Given the description of an element on the screen output the (x, y) to click on. 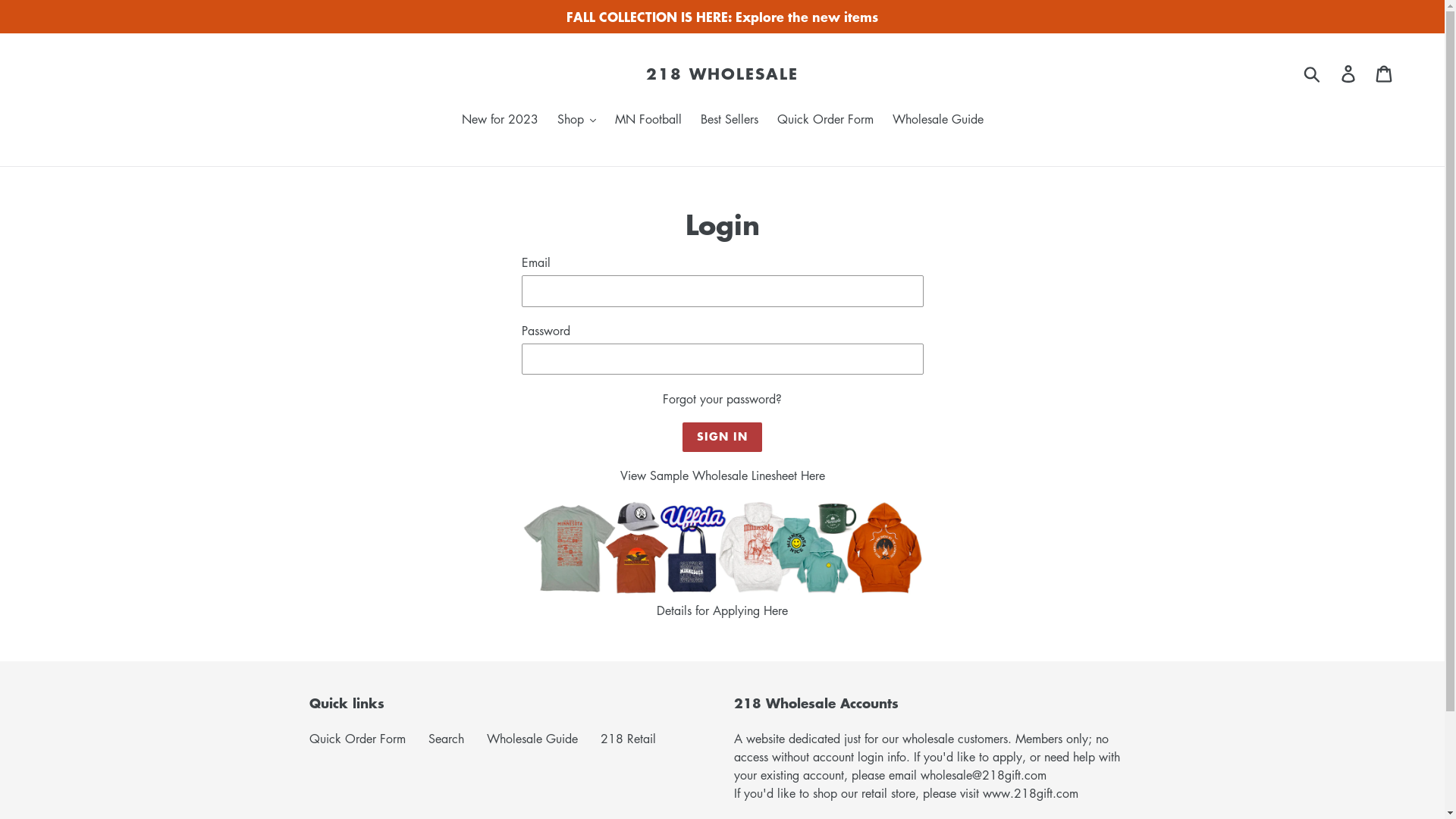
Details for Applying Here Element type: text (721, 610)
New for 2023 Element type: text (499, 119)
Quick Order Form Element type: text (824, 119)
Search Element type: text (445, 738)
Sample Wholesale Linesheet Here Element type: text (736, 475)
218 WHOLESALE Element type: text (722, 73)
Log in Element type: text (1349, 73)
FALL COLLECTION IS HERE: Explore the new items Element type: text (722, 16)
Wholesale Guide Element type: text (937, 119)
View Element type: text (634, 475)
Sample 218 Wholesale Products Element type: hover (722, 591)
Cart Element type: text (1384, 73)
Sign In Element type: text (722, 436)
Wholesale Guide Element type: text (531, 738)
218 Retail Element type: text (627, 738)
MN Football Element type: text (647, 119)
Forgot your password? Element type: text (721, 398)
Best Sellers Element type: text (729, 119)
Submit Element type: text (1312, 73)
Quick Order Form Element type: text (357, 738)
